Given the description of an element on the screen output the (x, y) to click on. 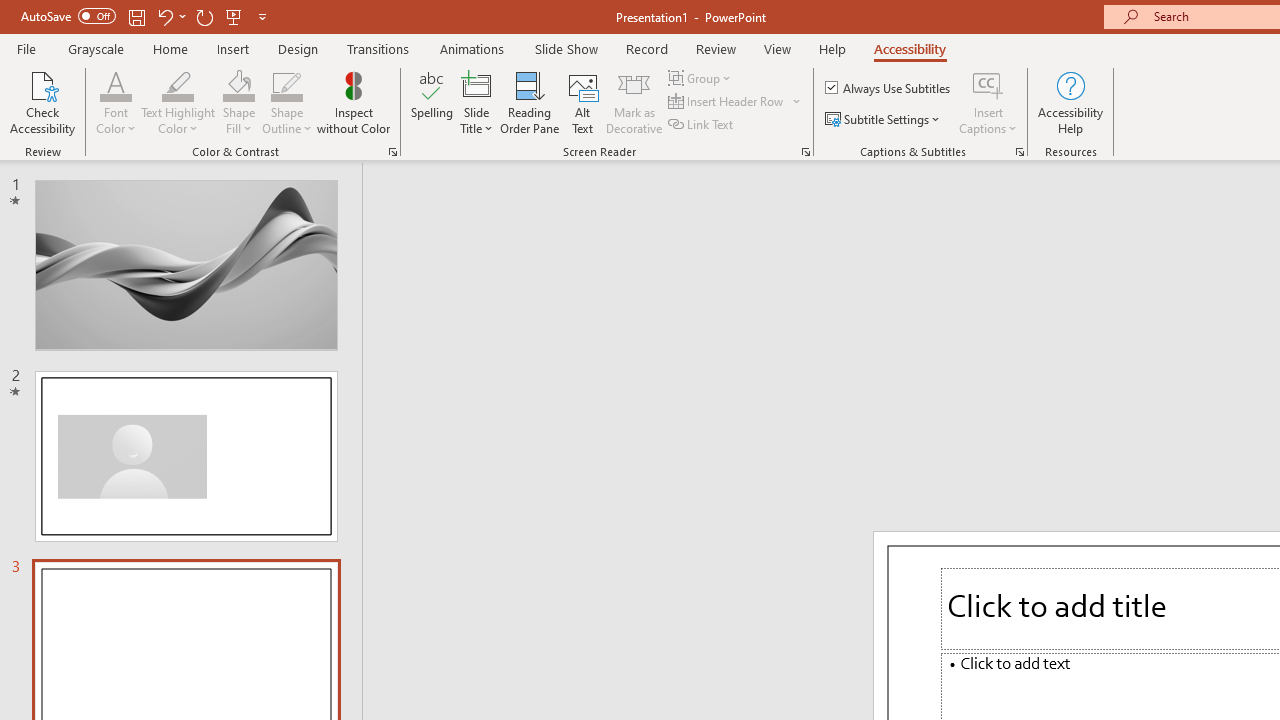
Always Use Subtitles (889, 87)
Screen Reader (805, 151)
Slide Title (476, 84)
Link Text (702, 124)
Reading Order Pane (529, 102)
